Given the description of an element on the screen output the (x, y) to click on. 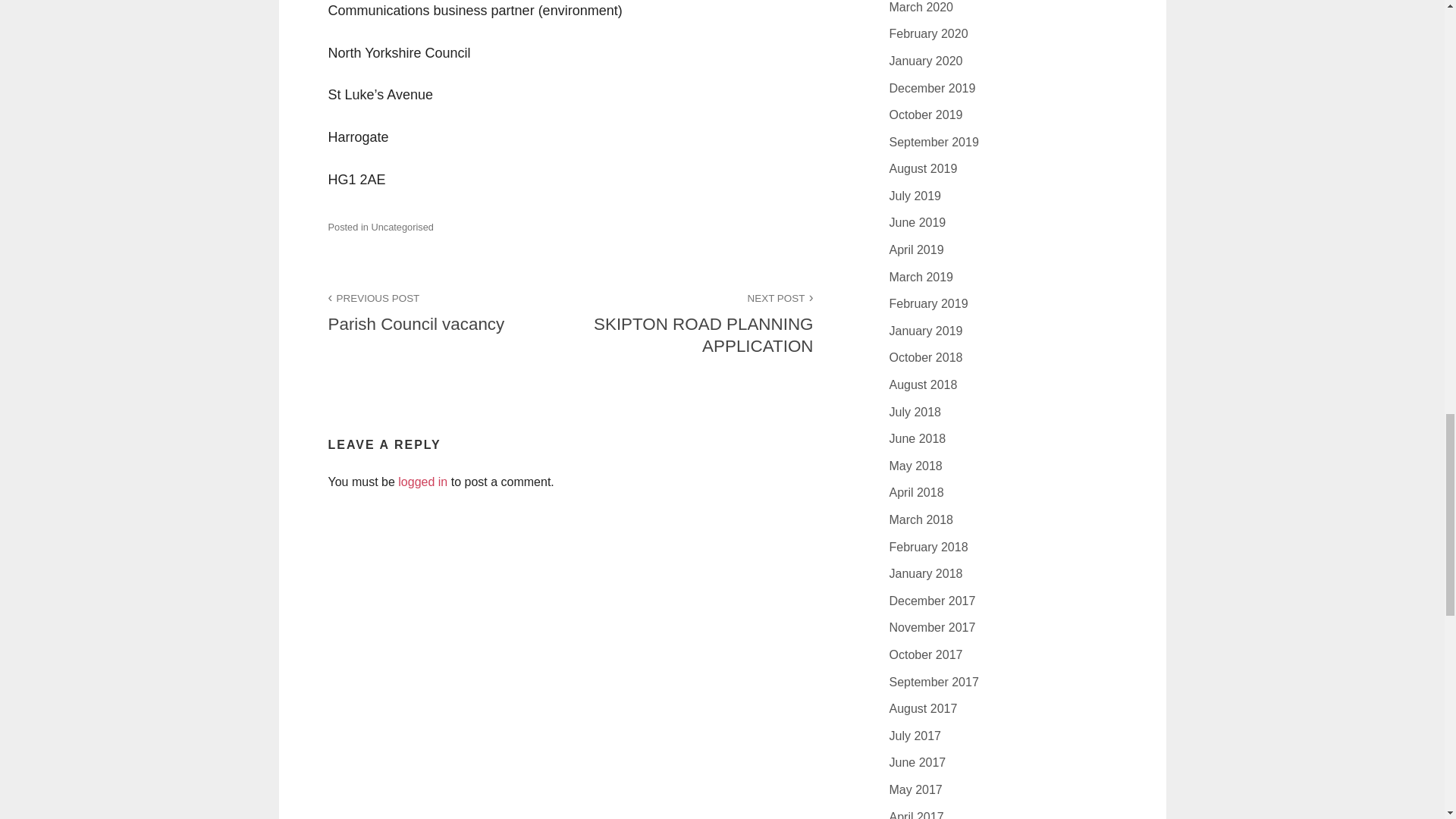
logged in (421, 481)
